Given the description of an element on the screen output the (x, y) to click on. 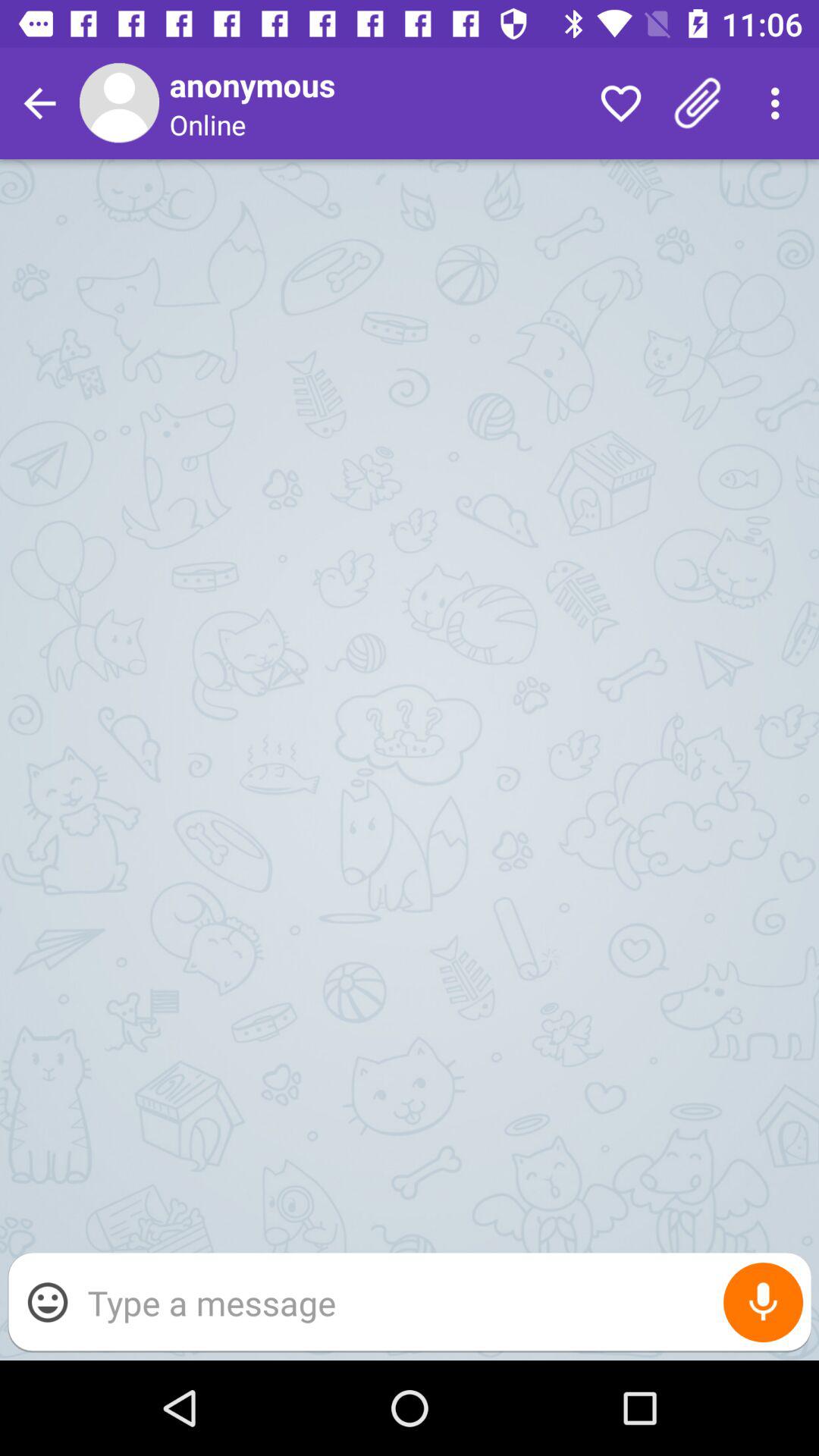
select item at the bottom right corner (763, 1302)
